Given the description of an element on the screen output the (x, y) to click on. 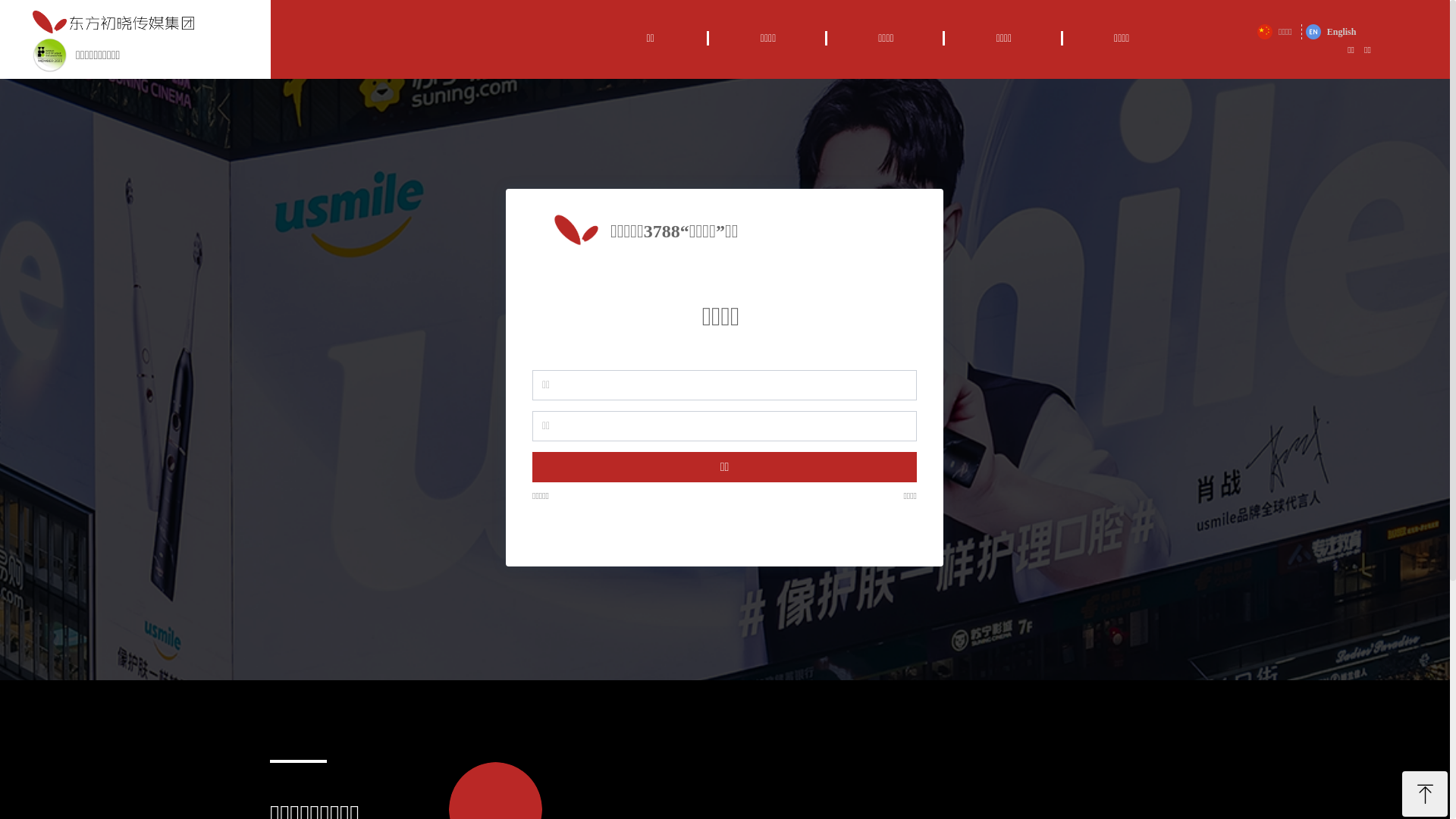
English Element type: text (1330, 31)
